Given the description of an element on the screen output the (x, y) to click on. 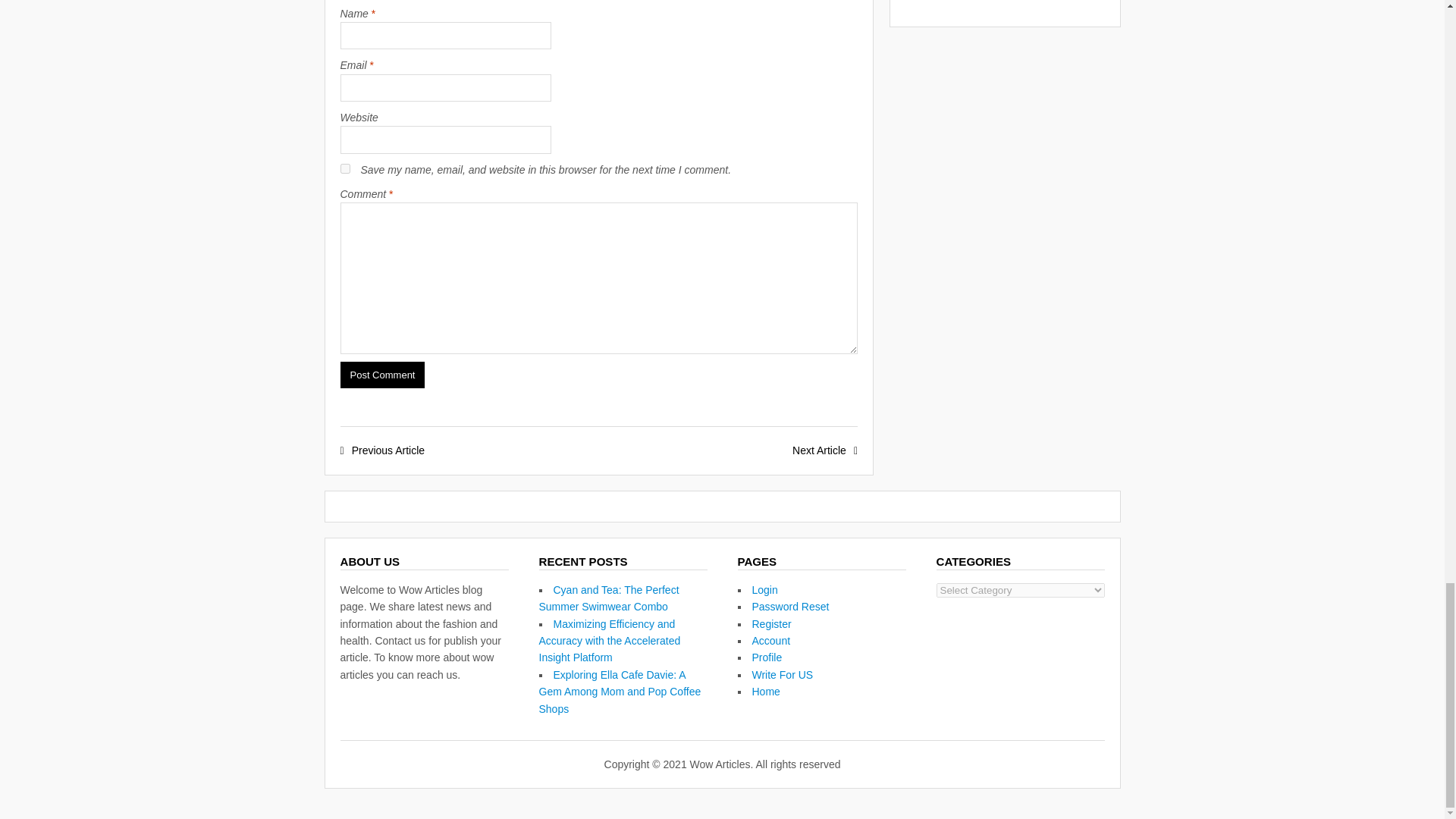
Next Article (824, 450)
Previous Article (382, 450)
Post Comment (382, 375)
yes (344, 168)
Post Comment (382, 375)
